Given the description of an element on the screen output the (x, y) to click on. 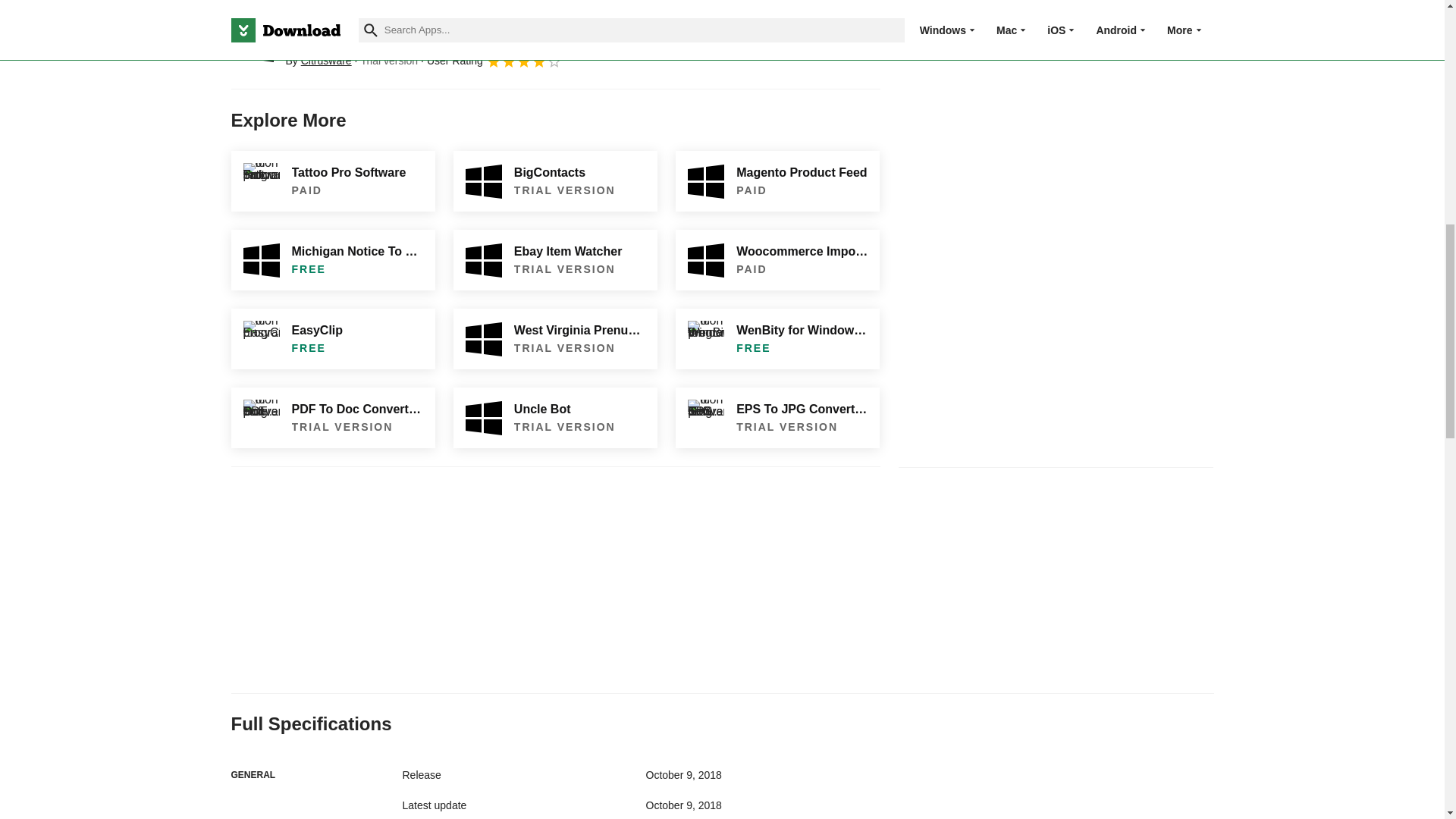
BigContacts (555, 180)
Magento Product Feed (777, 180)
Ebay Item Watcher (555, 260)
Citrus Payroll for Windows (251, 41)
Uncle Bot (555, 417)
EasyClip (331, 338)
Michigan Notice To Quit (331, 260)
EPS To JPG Converter Software (777, 417)
West Virginia Prenuptial Agreement (555, 338)
WenBity for Windows 8 (777, 338)
